Given the description of an element on the screen output the (x, y) to click on. 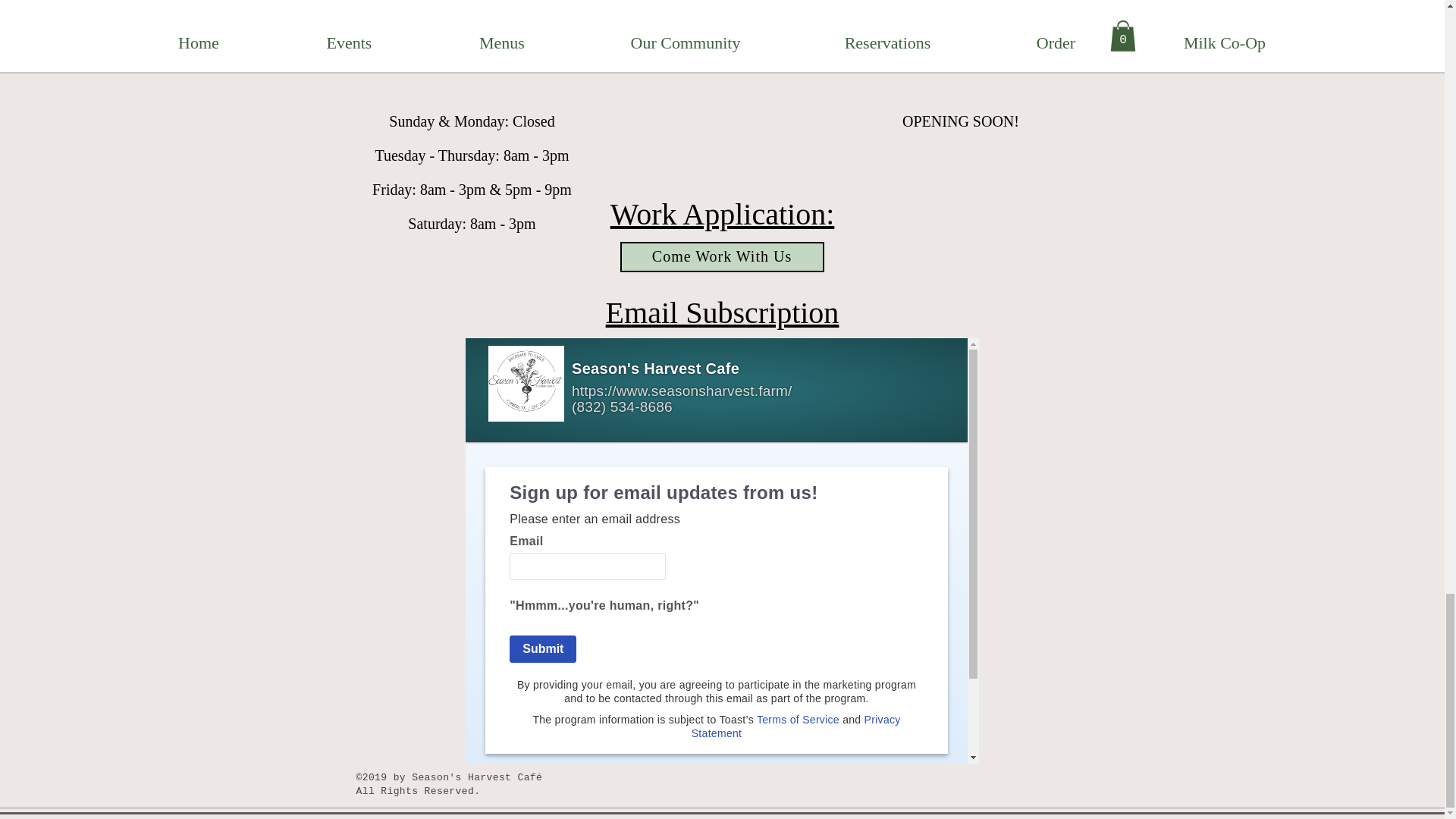
Come Work With Us (722, 256)
